Given the description of an element on the screen output the (x, y) to click on. 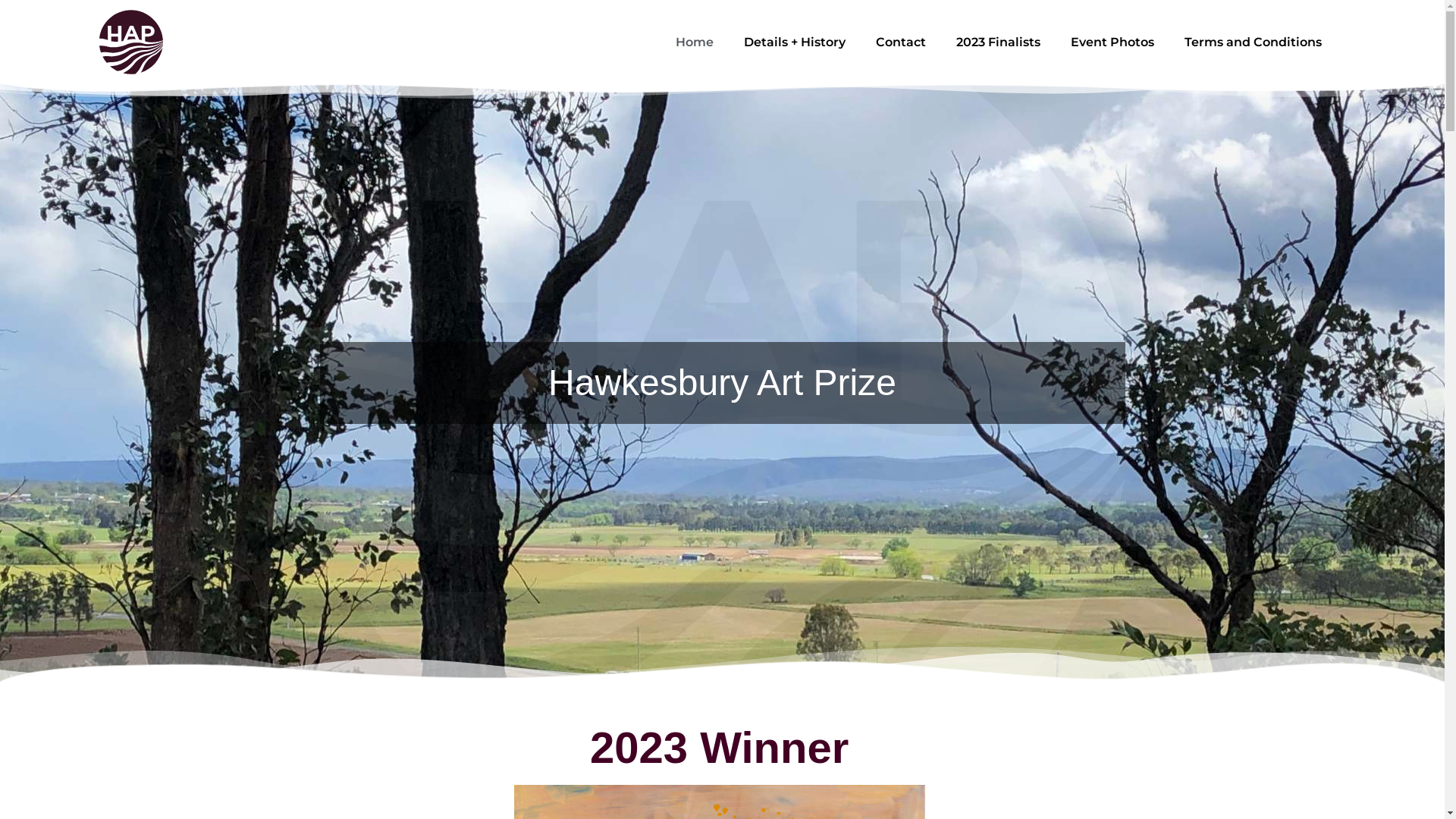
Home Element type: text (694, 41)
Terms and Conditions Element type: text (1252, 41)
Event Photos Element type: text (1112, 41)
Details + History Element type: text (794, 41)
2023 Finalists Element type: text (998, 41)
Contact Element type: text (900, 41)
